Given the description of an element on the screen output the (x, y) to click on. 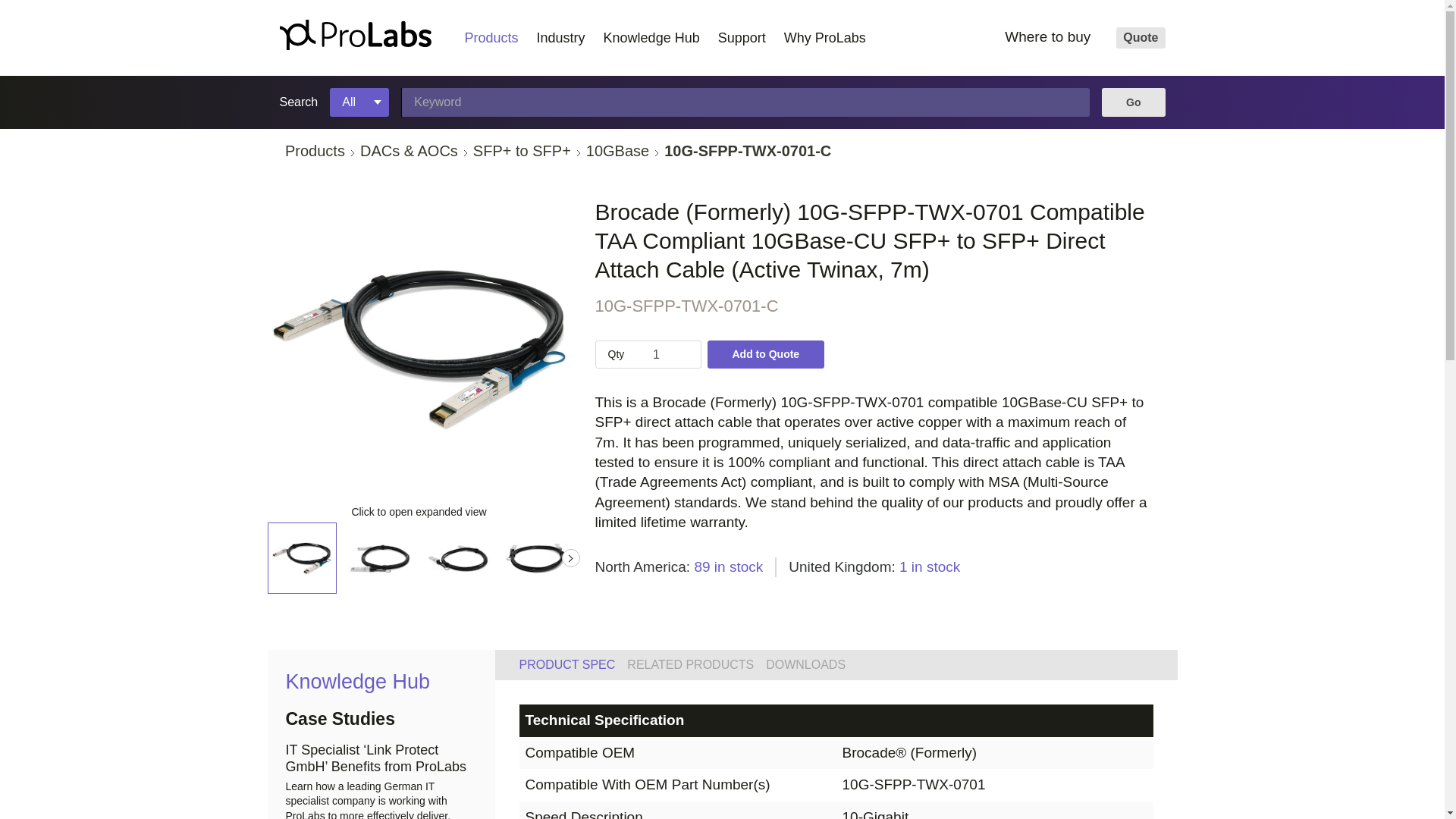
1 (655, 354)
10GBase (624, 150)
Support (741, 37)
Industry (560, 37)
Products (322, 150)
Products (490, 37)
Add 10G-SFPP-TWX-0701-C to Quote (765, 353)
Knowledge Hub (651, 37)
